Given the description of an element on the screen output the (x, y) to click on. 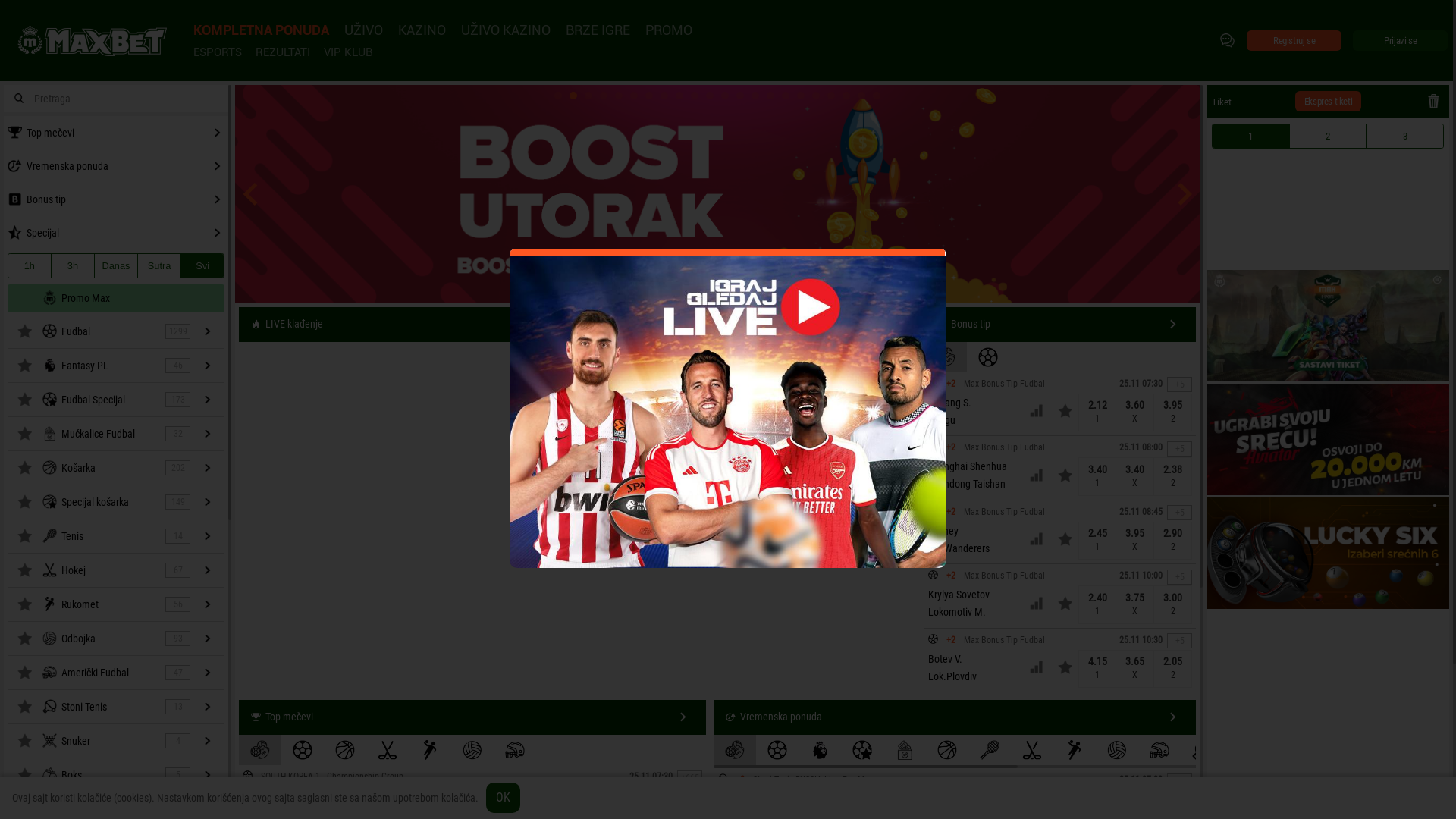
3.75
X Element type: text (1135, 604)
2.05
2 Element type: text (1173, 668)
3.60
X Element type: text (1135, 412)
3.40
1 Element type: text (1097, 476)
3.95
X Element type: text (1135, 540)
3.65
X Element type: text (1135, 668)
2.90
2 Element type: text (1173, 540)
2.40
1 Element type: text (1097, 604)
3.40
X Element type: text (1135, 476)
4.15
1 Element type: text (1097, 668)
2.12
1 Element type: text (1097, 412)
2.38
2 Element type: text (1173, 476)
3.95
2 Element type: text (1173, 412)
3.00
2 Element type: text (1173, 604)
2.45
1 Element type: text (1097, 540)
